Given the description of an element on the screen output the (x, y) to click on. 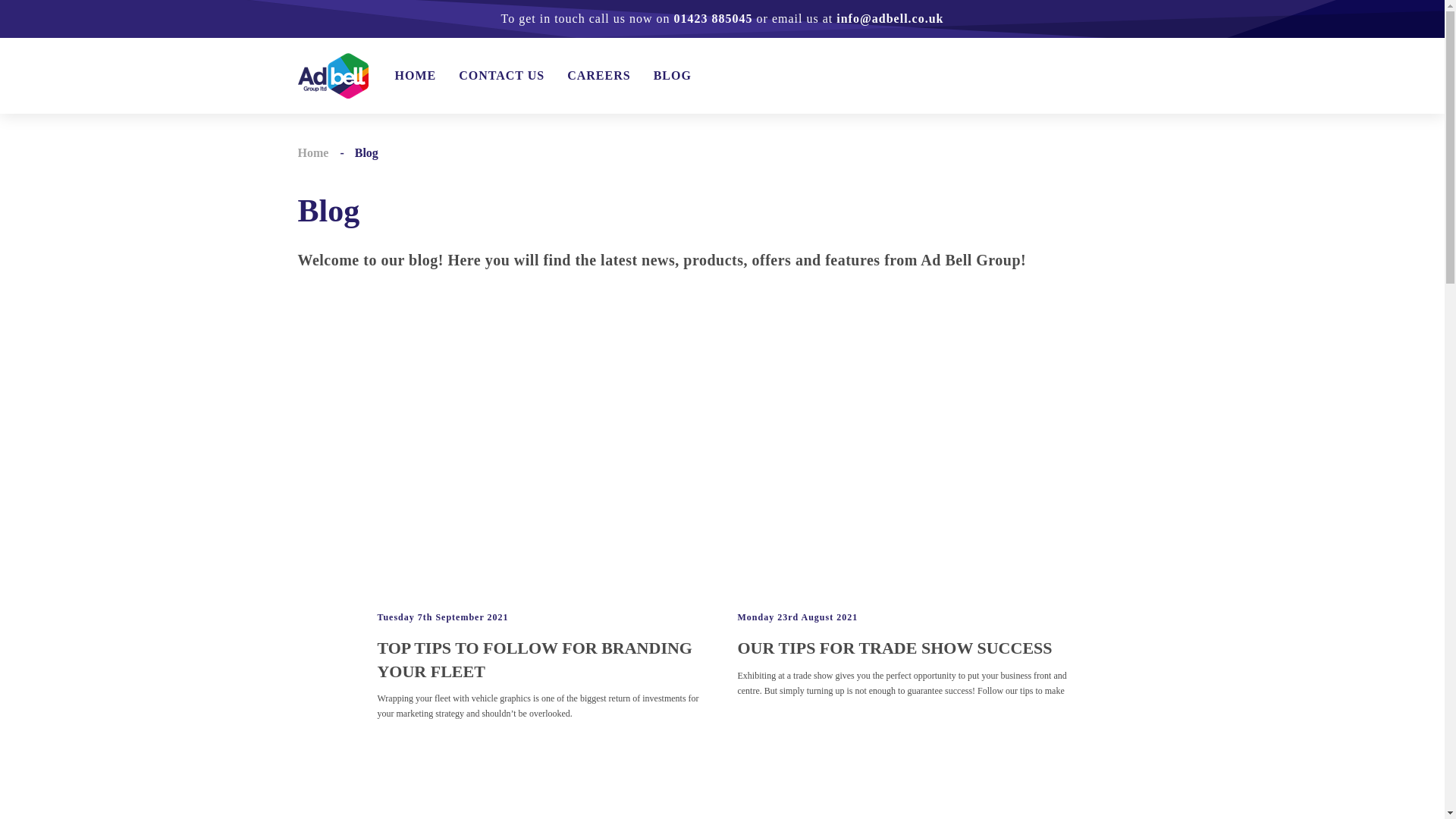
HOME (414, 75)
CAREERS (598, 75)
01423 885045 (713, 18)
BLOG (672, 75)
CONTACT US (501, 75)
Home (313, 152)
